Given the description of an element on the screen output the (x, y) to click on. 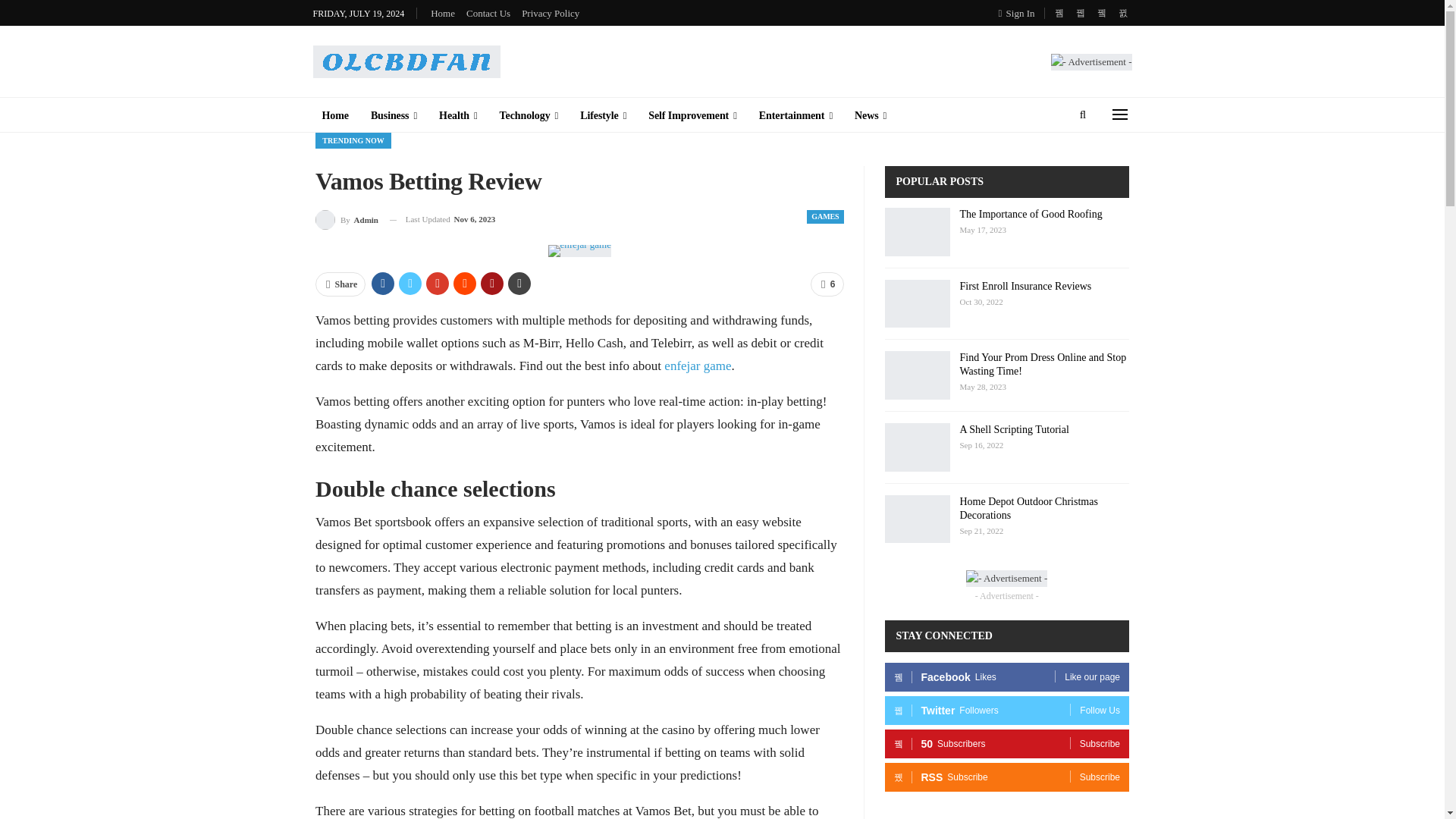
Contact Us (488, 12)
Browse Author Articles (346, 219)
Find Your Prom Dress Online and Stop Wasting Time! (916, 375)
Health (457, 115)
Home Depot Outdoor Christmas Decorations (916, 519)
A Shell Scripting Tutorial (916, 447)
First Enroll Insurance Reviews (916, 304)
Technology (528, 115)
The Importance of Good Roofing (916, 232)
Business (393, 115)
Home (442, 12)
Home (334, 115)
Sign In (1019, 13)
Privacy Policy (550, 12)
